Given the description of an element on the screen output the (x, y) to click on. 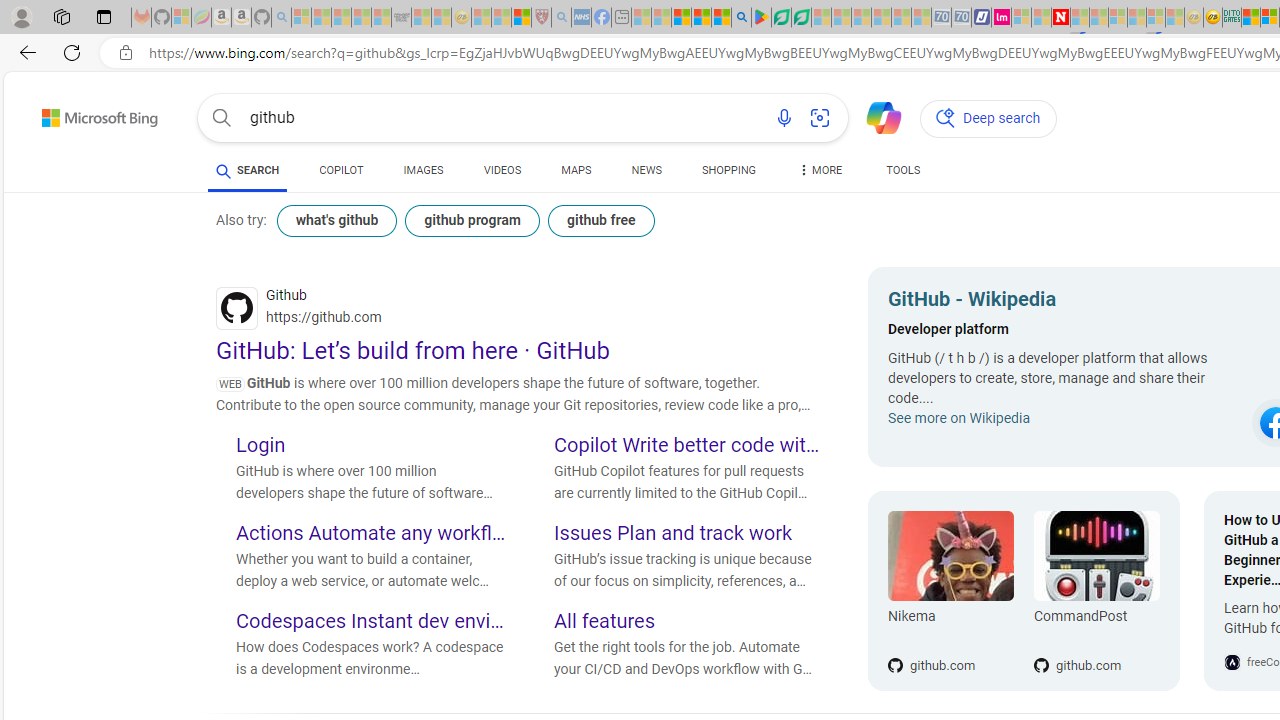
COPILOT (341, 173)
github.com (1096, 632)
Actions Automate any workflow (370, 534)
Search button (221, 117)
COPILOT (341, 170)
